Given the description of an element on the screen output the (x, y) to click on. 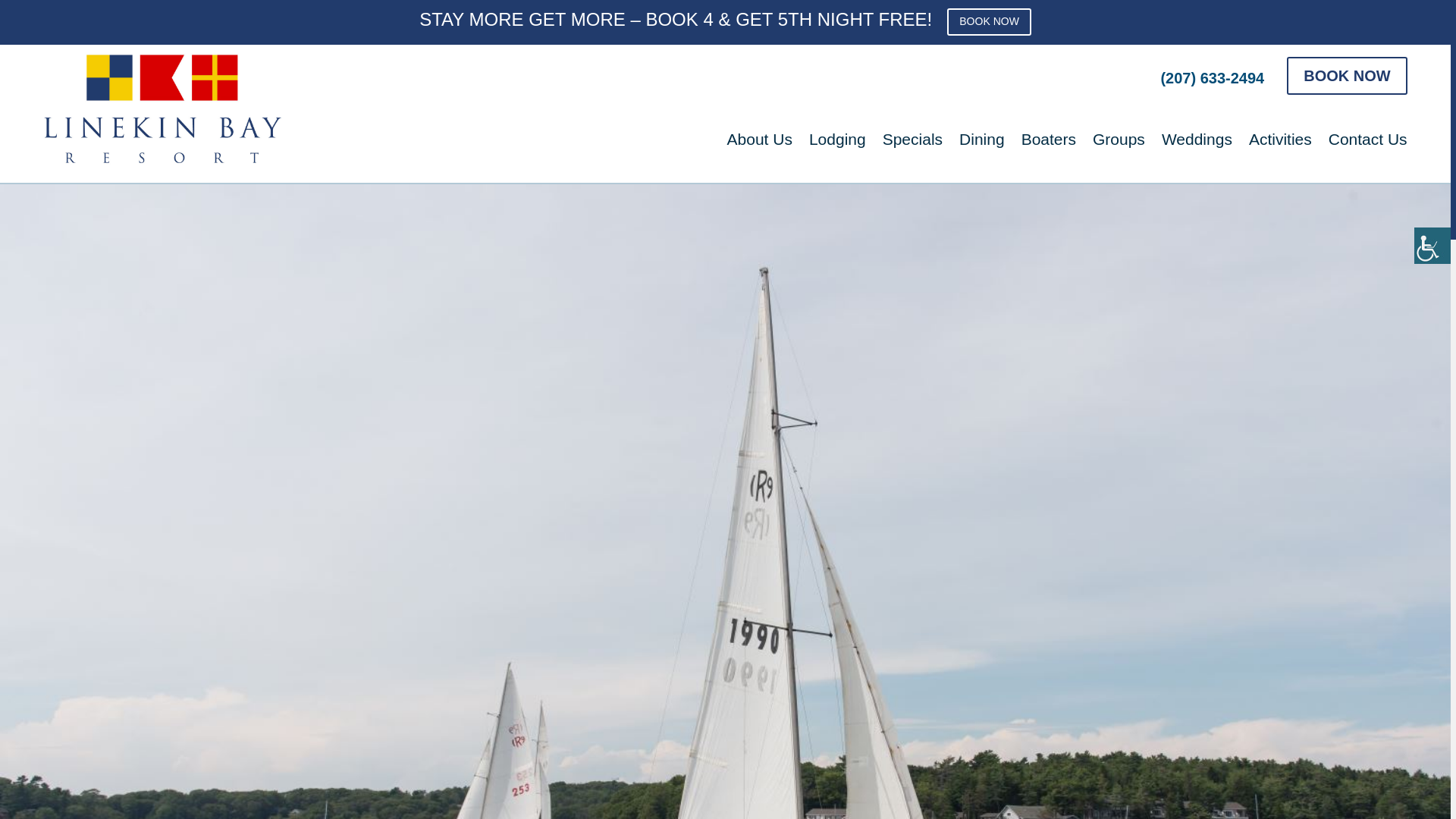
BOOK NOW (988, 22)
About Us (759, 148)
Contact Us (1367, 148)
Activities (1280, 148)
Groups (1118, 148)
Weddings (1196, 148)
Boaters (1048, 148)
Dining (981, 148)
Lodging (837, 148)
Specials (912, 148)
